Given the description of an element on the screen output the (x, y) to click on. 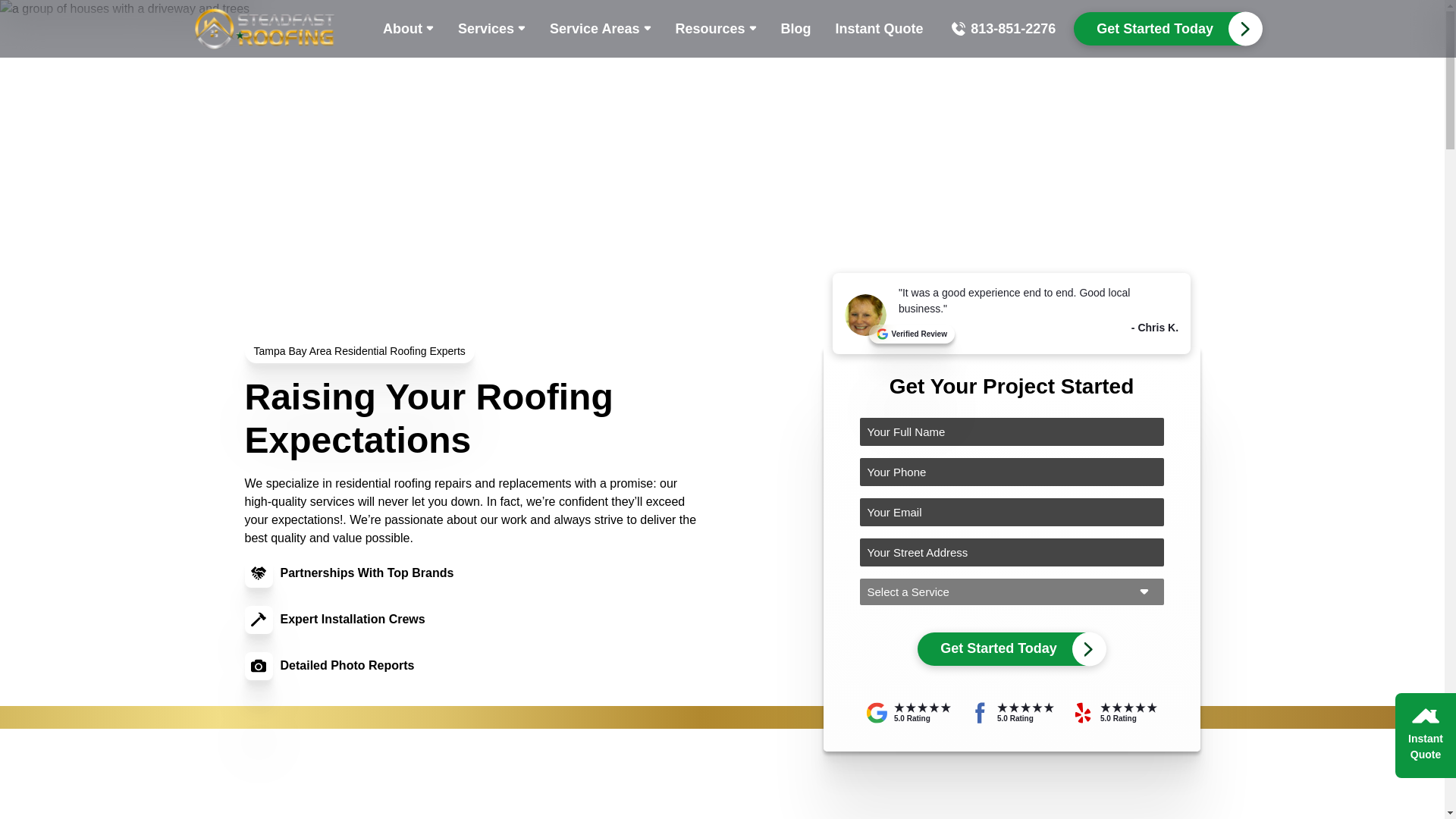
About (408, 28)
Instant Quote (880, 28)
Services (491, 28)
Resources (715, 28)
Blog (796, 28)
Service Areas (599, 28)
